Given the description of an element on the screen output the (x, y) to click on. 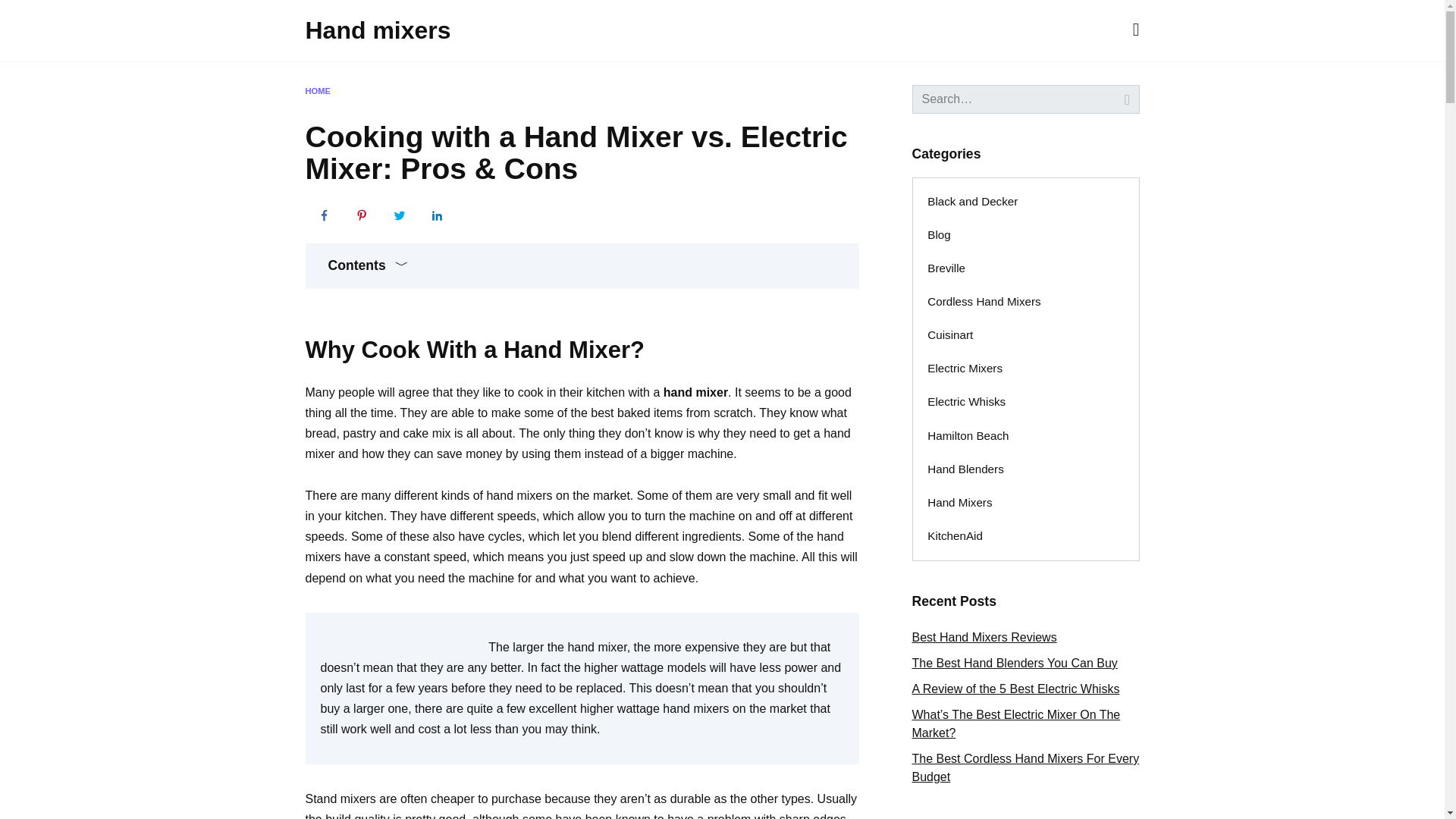
A Review of the 5 Best Electric Whisks (1015, 688)
HOME (317, 90)
Breville (945, 268)
The Best Hand Blenders You Can Buy (1013, 662)
Hand Mixers (959, 502)
Hamilton Beach (968, 435)
Cordless Hand Mixers (984, 302)
Black and Decker (972, 202)
Electric Mixers (964, 368)
Best Hand Mixers Reviews (984, 636)
Cuisinart (950, 335)
Hand Blenders (965, 469)
KitchenAid (954, 535)
Electric Whisks (966, 402)
Blog (939, 235)
